Given the description of an element on the screen output the (x, y) to click on. 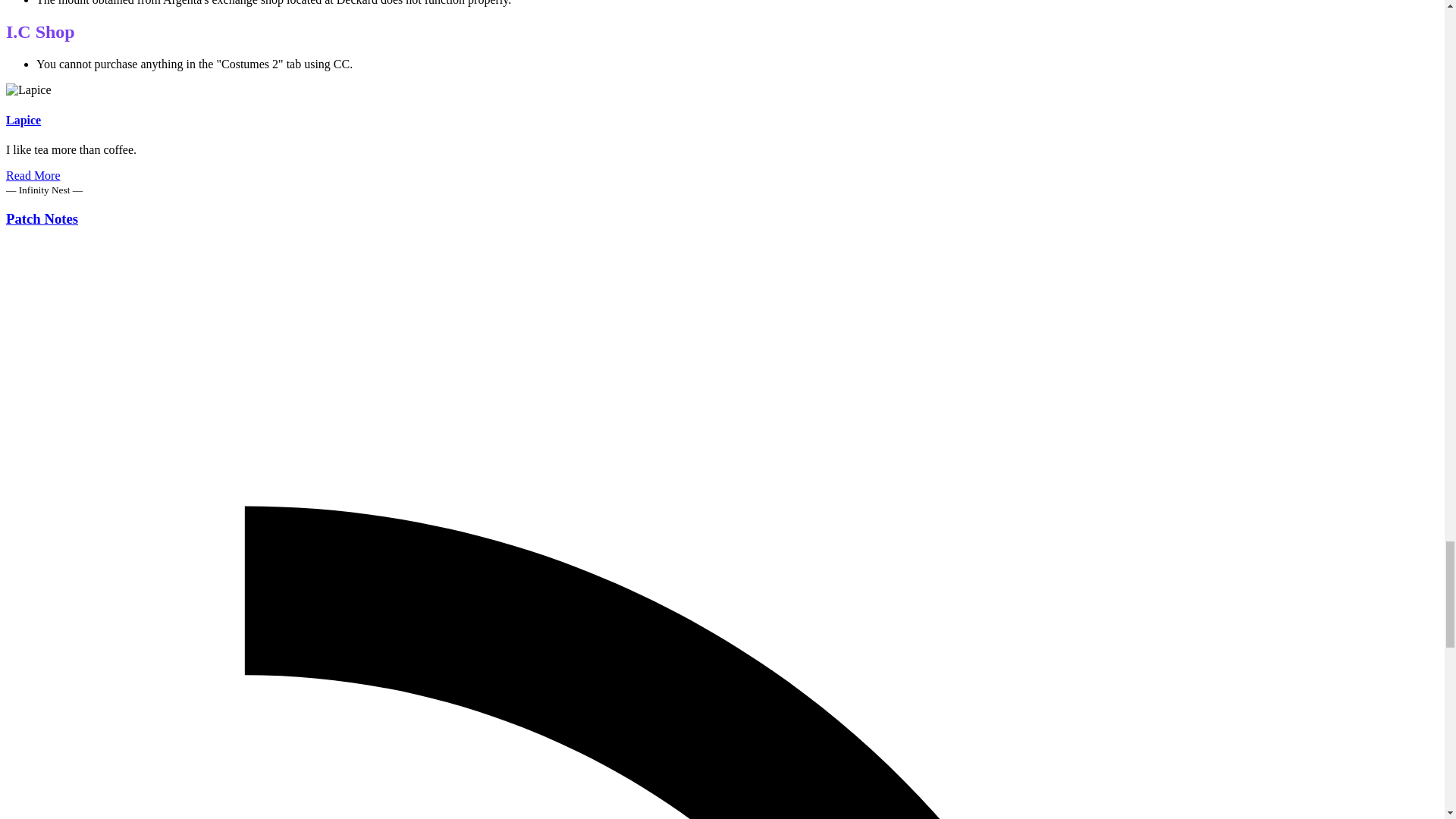
Lapice (22, 119)
Read More (33, 174)
Patch Notes (41, 218)
